Given the description of an element on the screen output the (x, y) to click on. 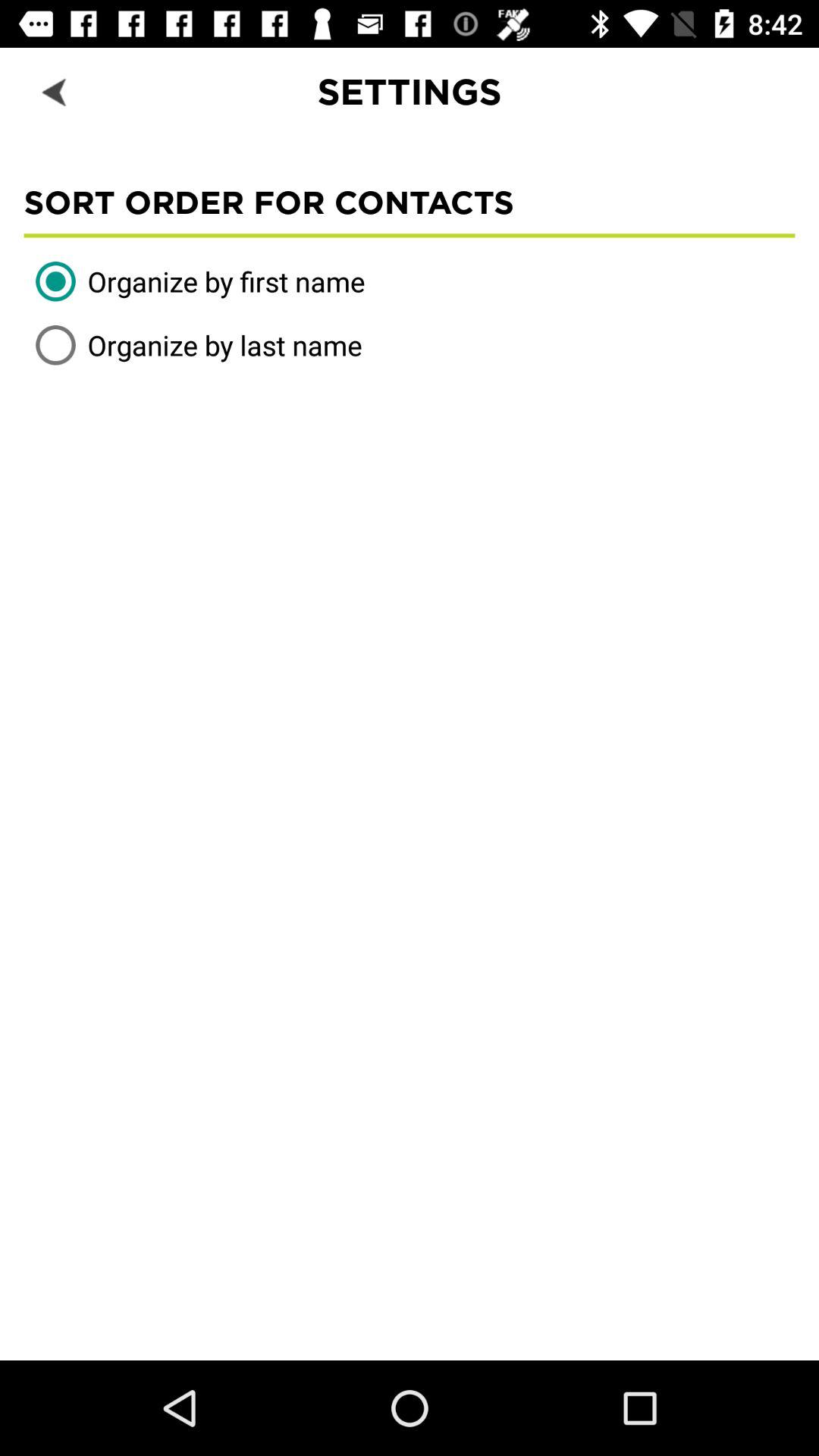
go back (55, 91)
